Given the description of an element on the screen output the (x, y) to click on. 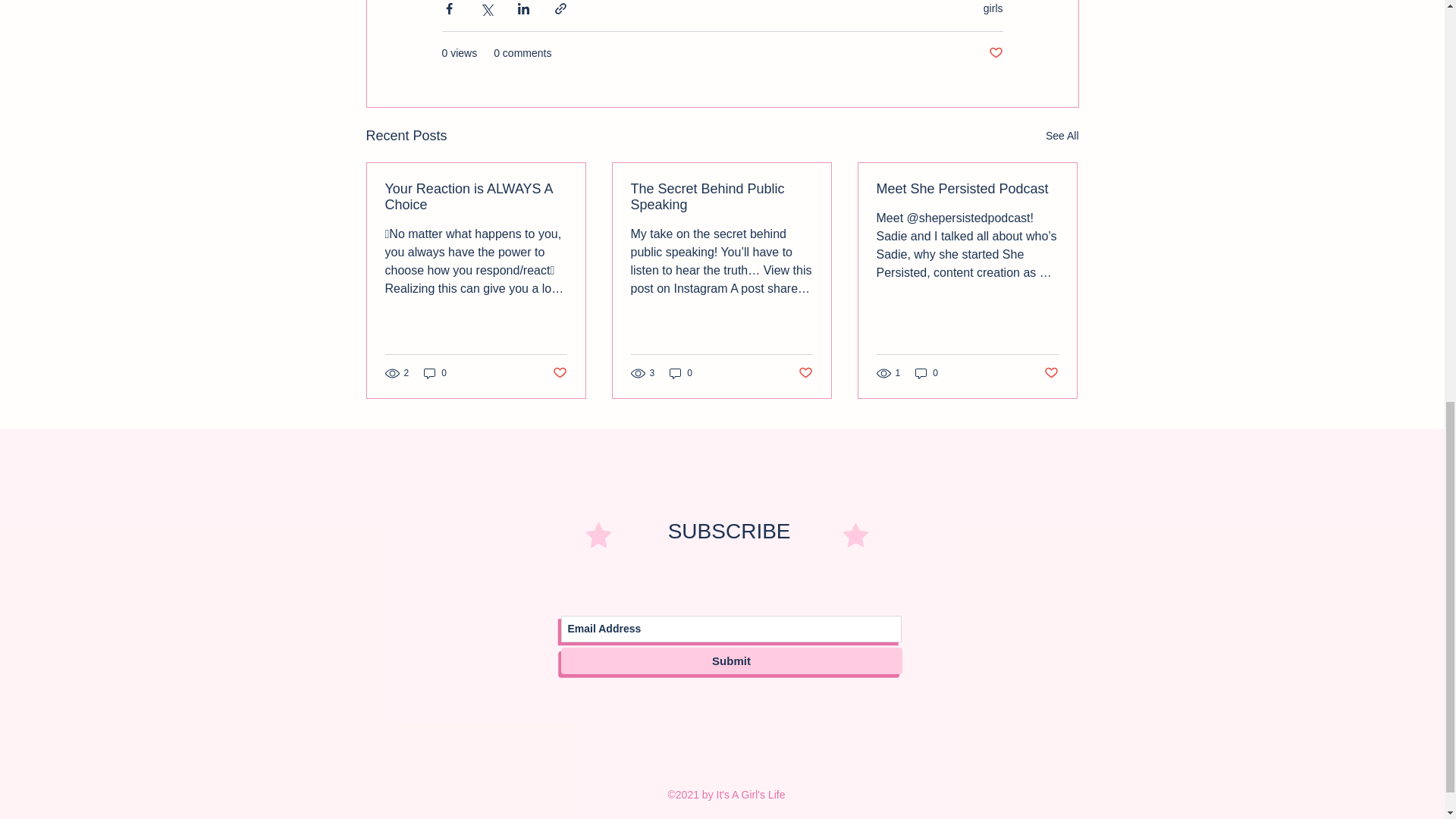
Post not marked as liked (995, 53)
Your Reaction is ALWAYS A Choice (476, 196)
girls (993, 7)
See All (1061, 136)
